Given the description of an element on the screen output the (x, y) to click on. 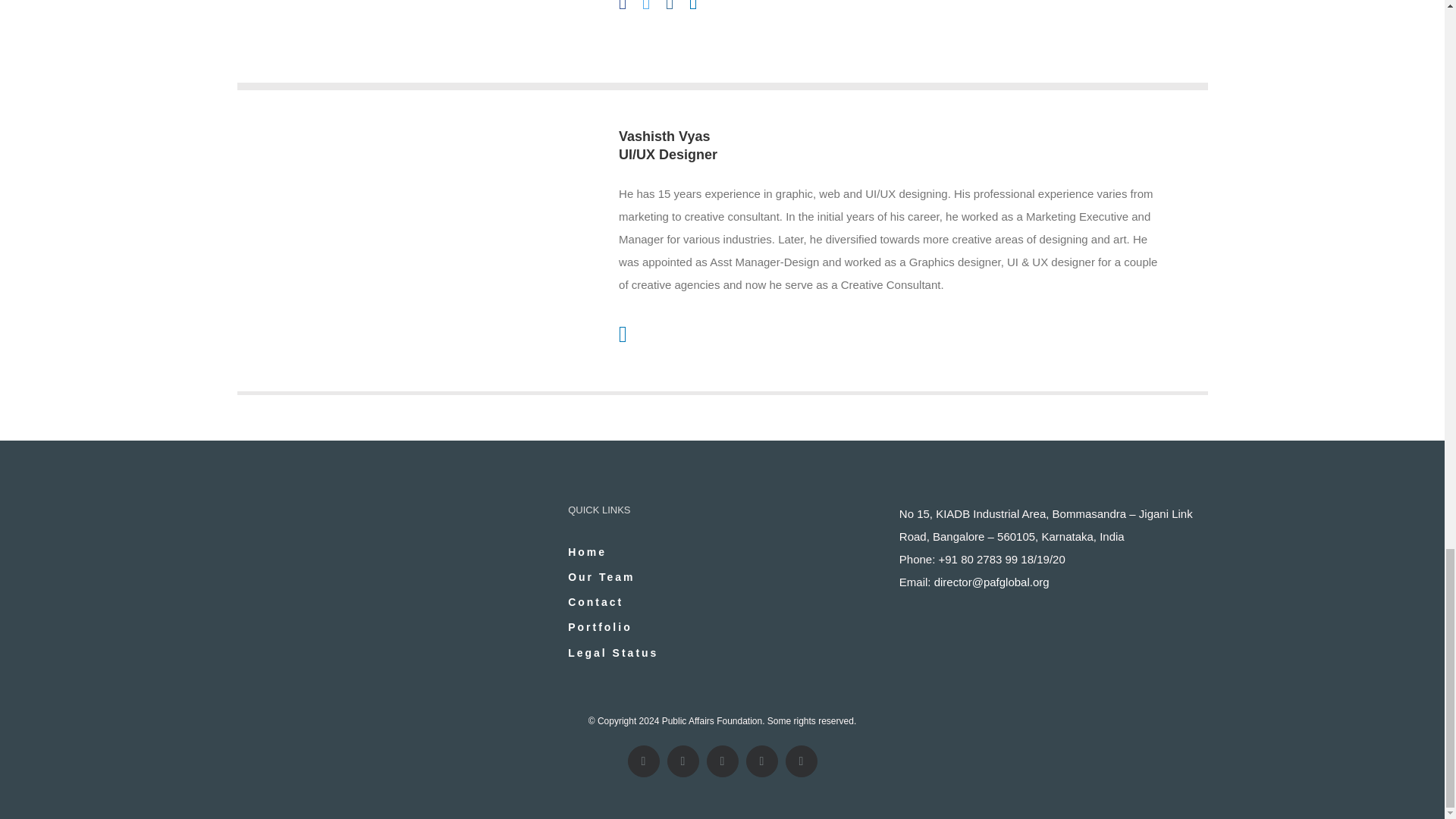
Dr. Annapoorna (397, 37)
